Given the description of an element on the screen output the (x, y) to click on. 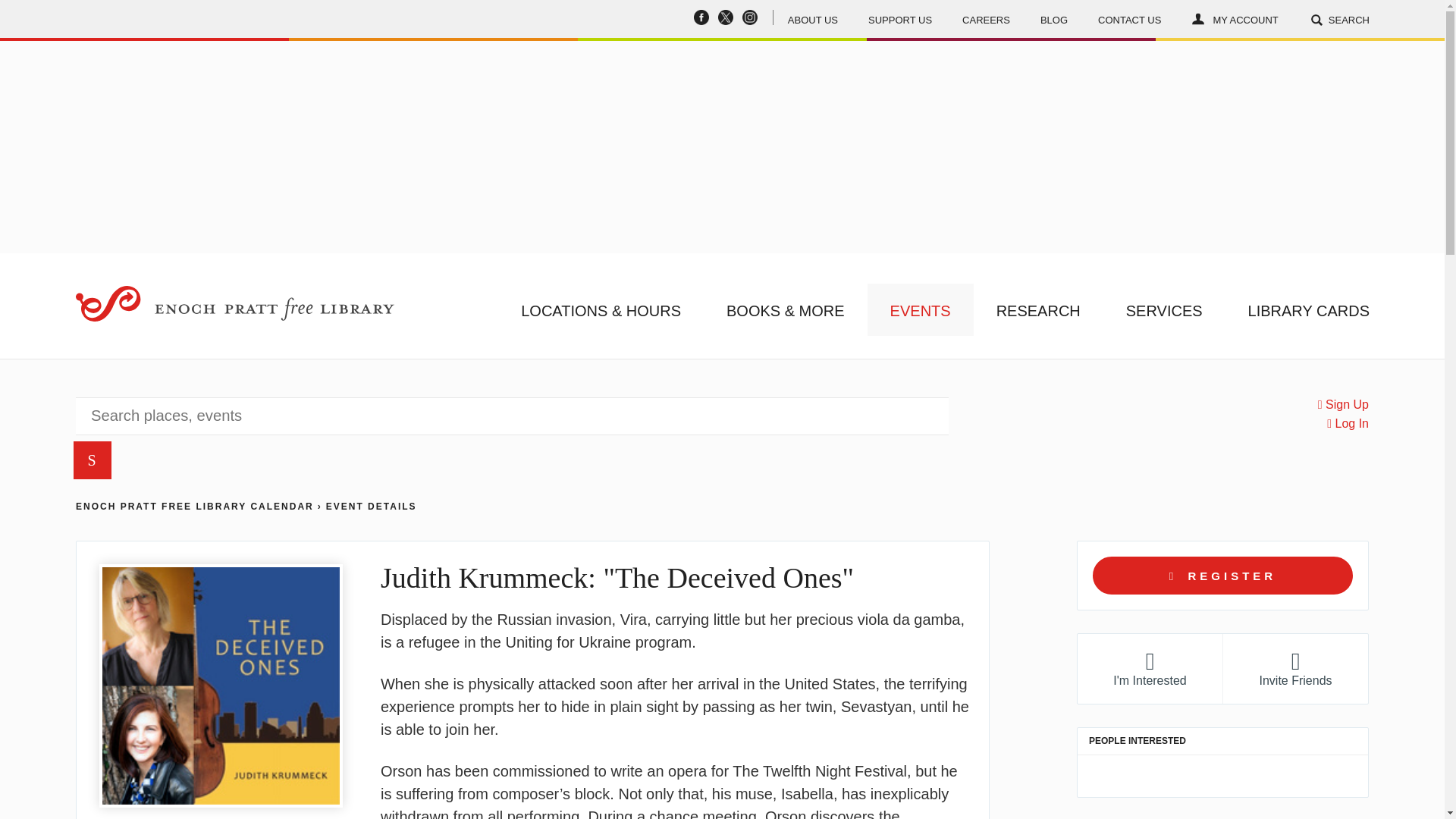
Search (1215, 161)
Log In (1347, 423)
RESEARCH (1038, 309)
BLOG (1054, 18)
CONTACT US (1129, 18)
SEARCH (1339, 18)
MY ACCOUNT (1234, 18)
LIBRARY CARDS (1308, 309)
Sign Up (1342, 404)
SUPPORT US (900, 18)
ABOUT US (813, 18)
EVENTS (920, 309)
CAREERS (986, 18)
SERVICES (1164, 309)
